Given the description of an element on the screen output the (x, y) to click on. 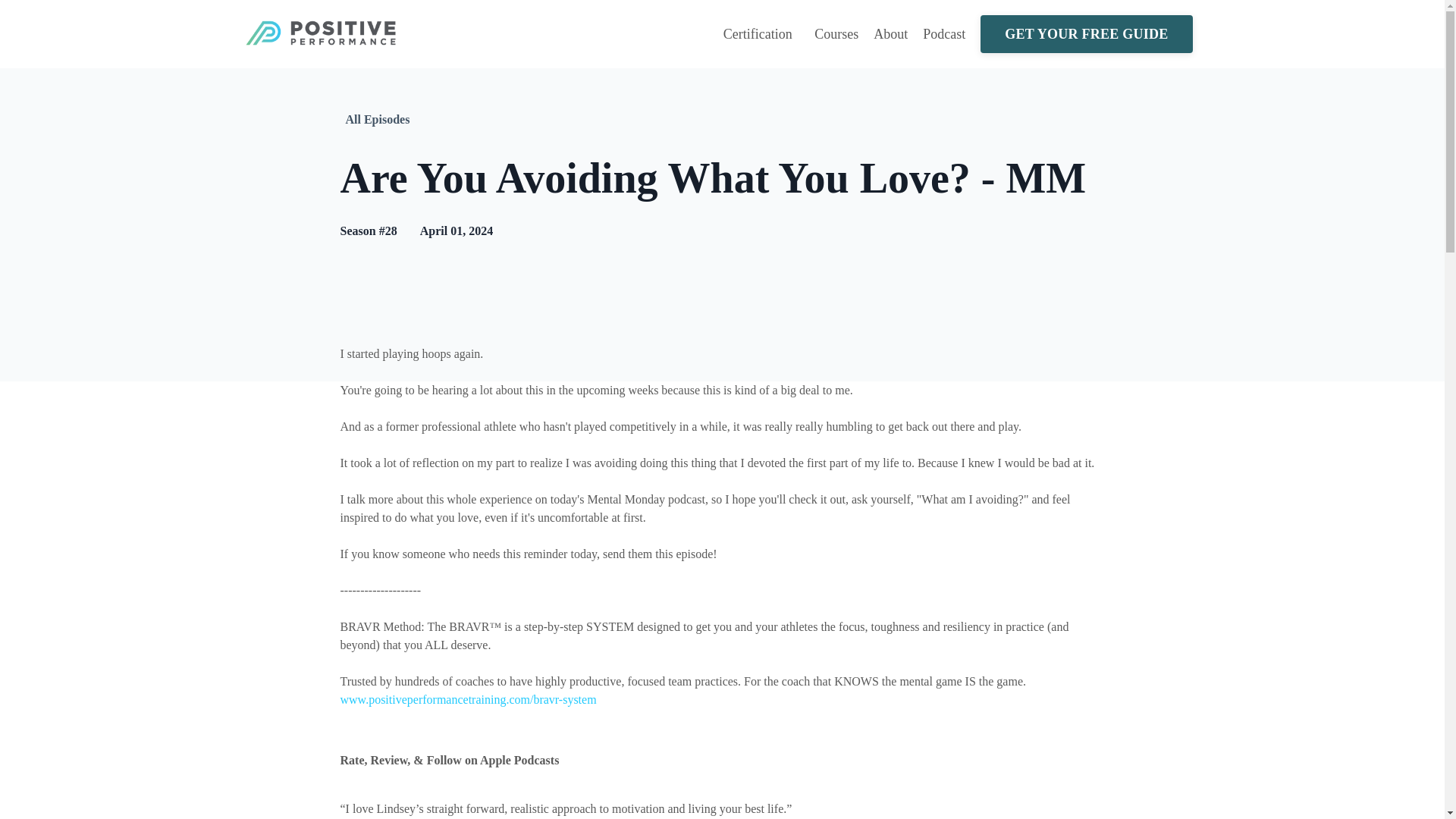
Certification (761, 34)
All Episodes (378, 119)
Courses (836, 34)
GET YOUR FREE GUIDE (1085, 34)
Podcast (944, 34)
About (890, 34)
